Given the description of an element on the screen output the (x, y) to click on. 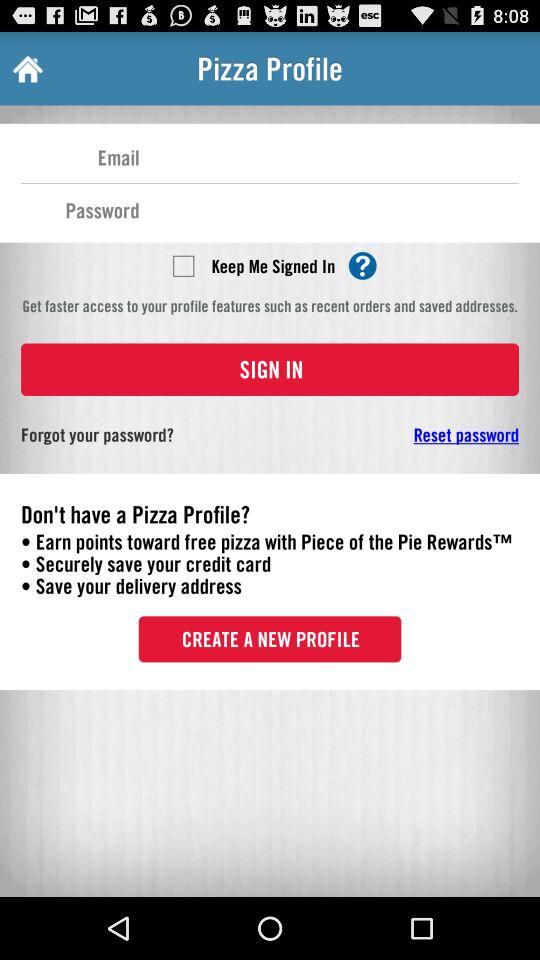
choose the item next to the pizza profile (26, 68)
